Given the description of an element on the screen output the (x, y) to click on. 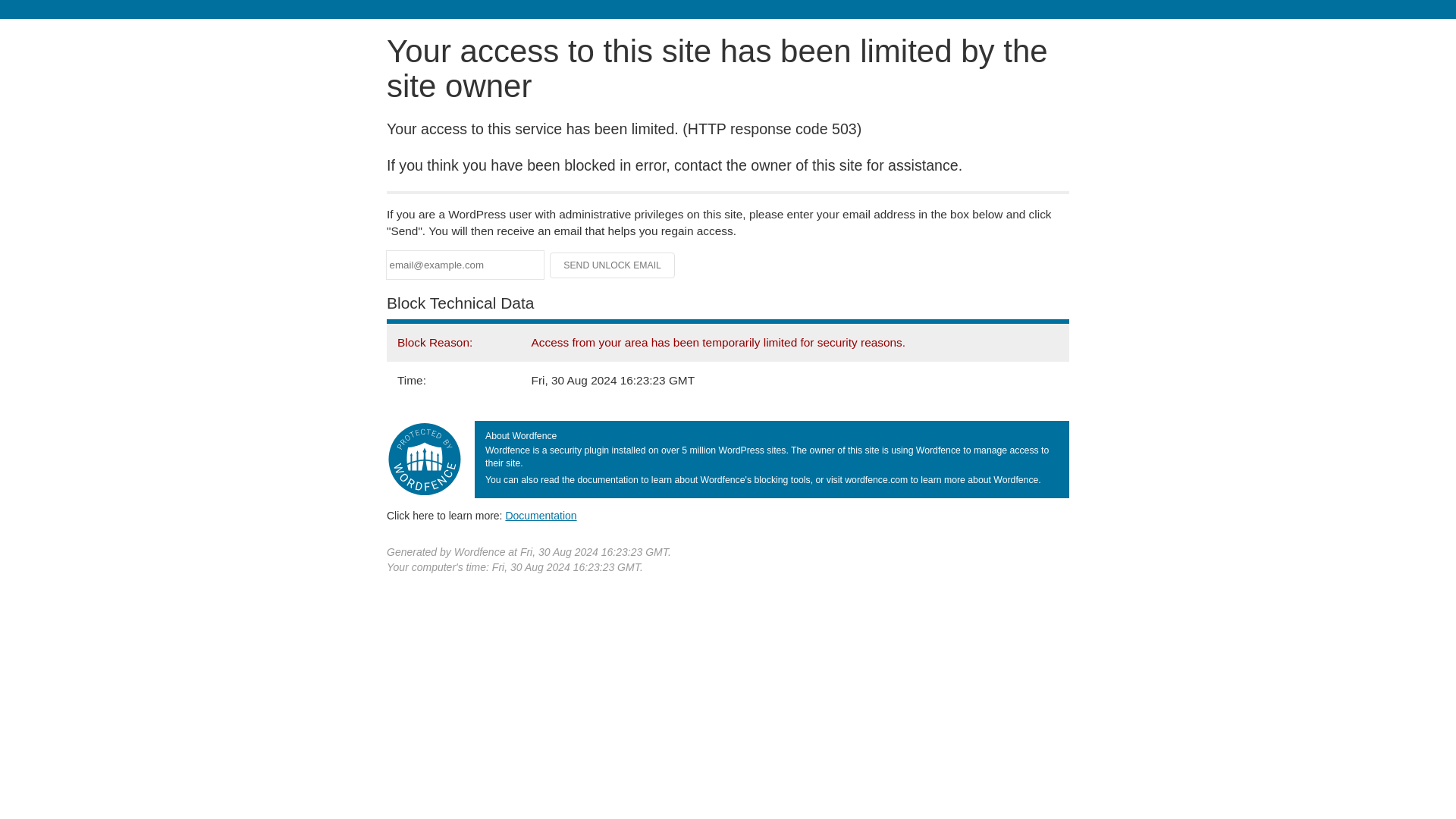
Send Unlock Email (612, 265)
Documentation (540, 515)
Send Unlock Email (612, 265)
